Given the description of an element on the screen output the (x, y) to click on. 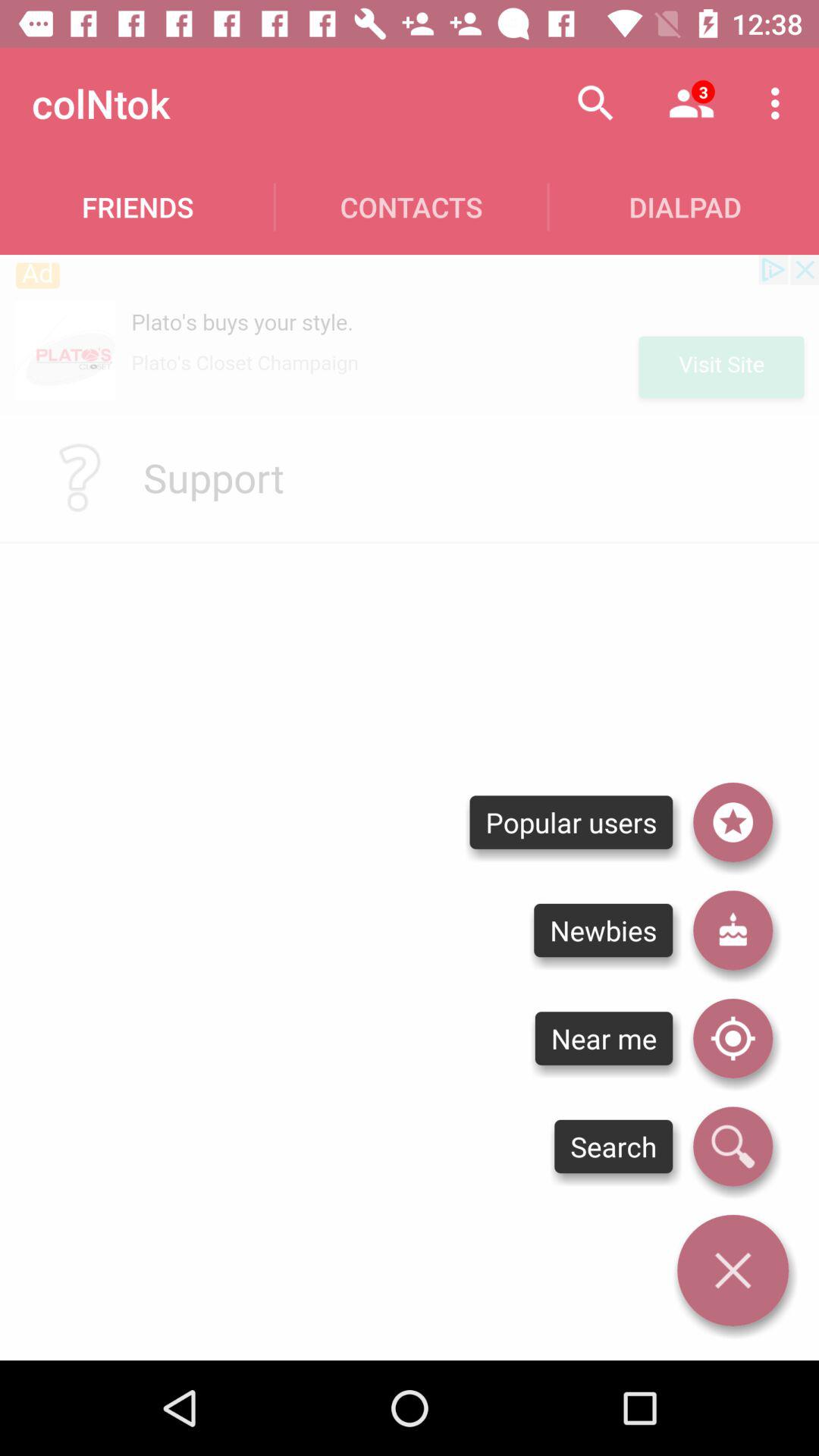
people that recently joined (733, 930)
